Given the description of an element on the screen output the (x, y) to click on. 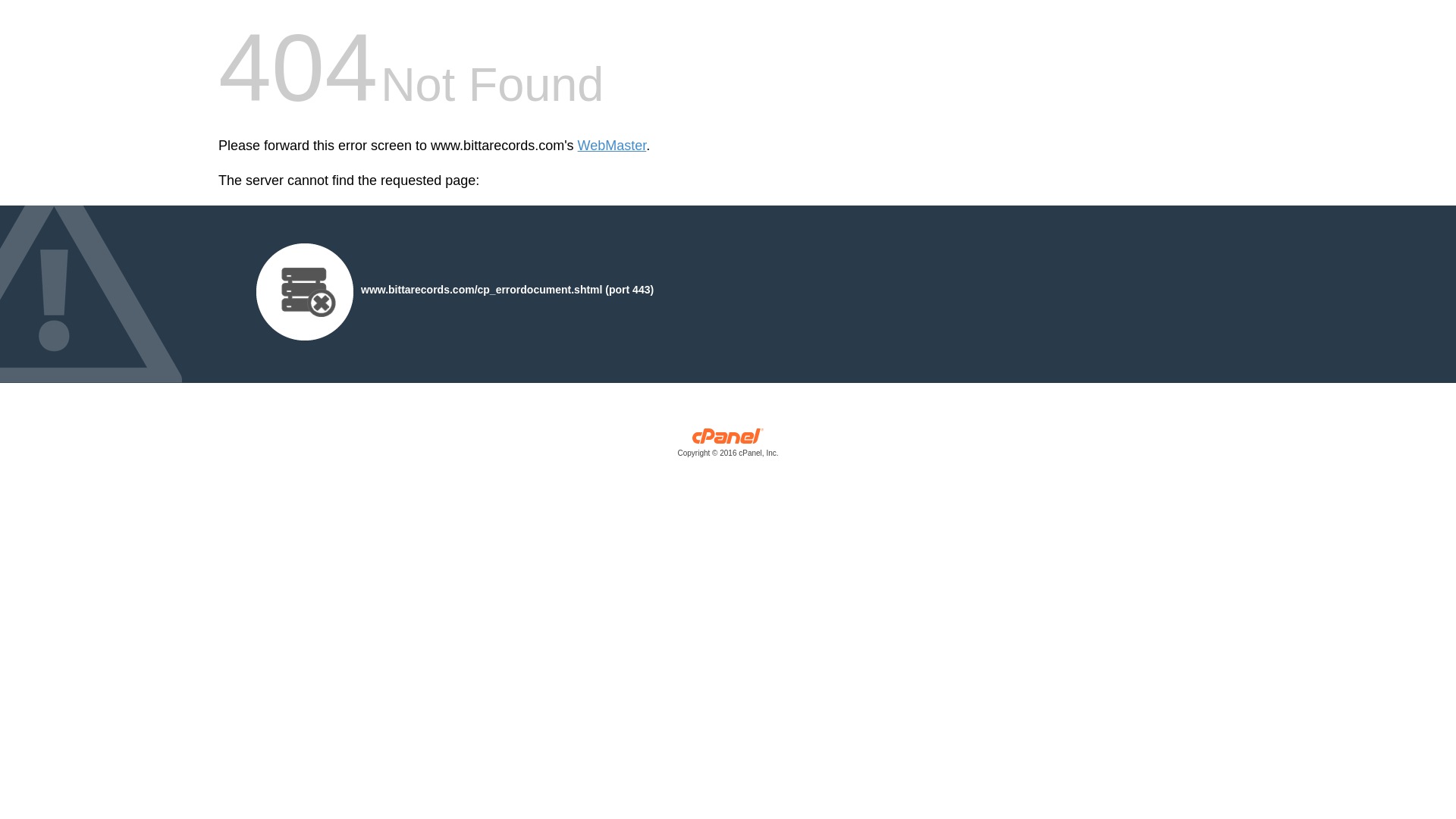
WebMaster (612, 145)
cPanel, Inc. (727, 446)
